Given the description of an element on the screen output the (x, y) to click on. 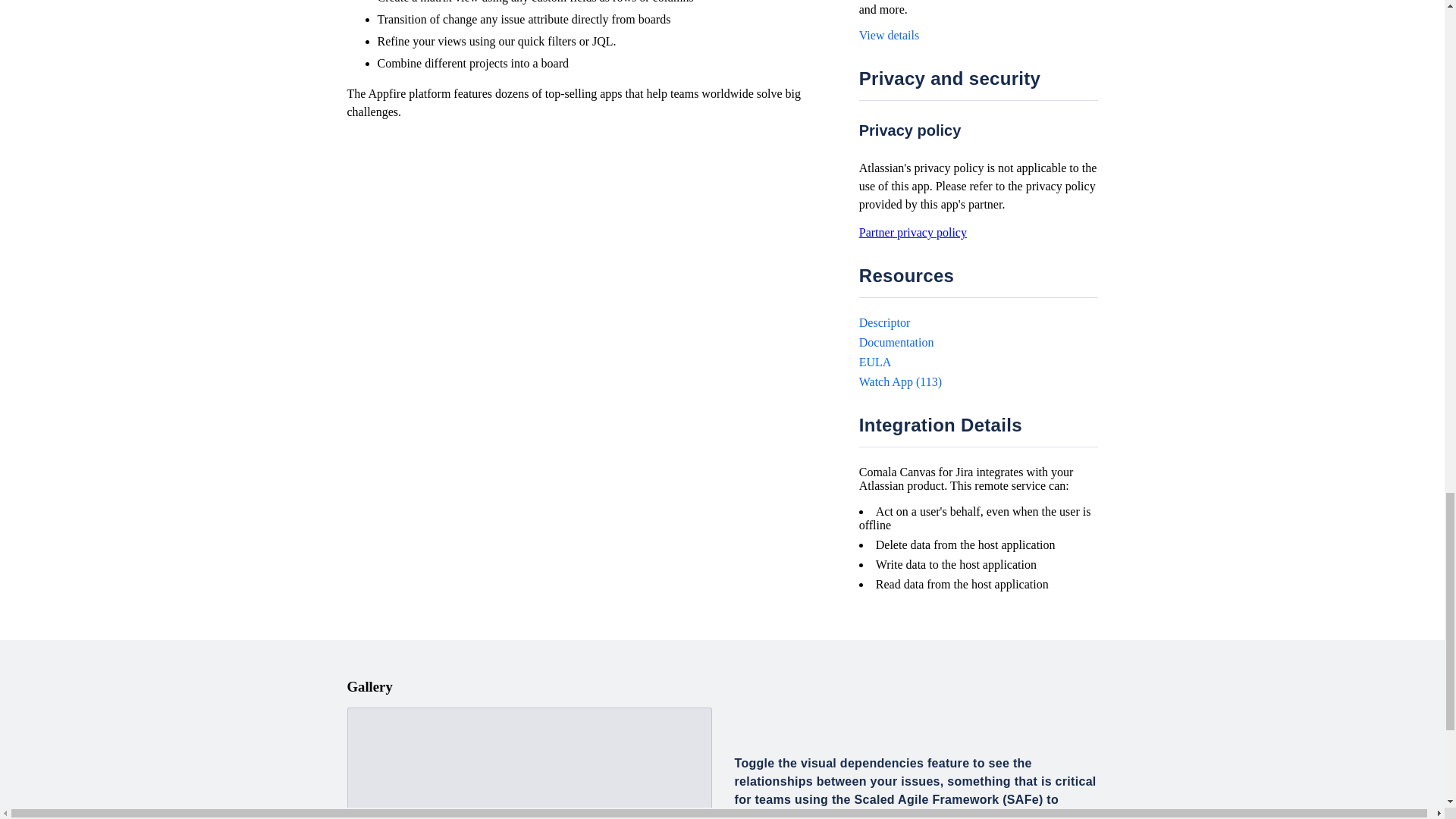
Descriptor (885, 322)
Partner privacy policy (912, 232)
Documentation (896, 341)
EULA (875, 361)
View details (888, 35)
